Given the description of an element on the screen output the (x, y) to click on. 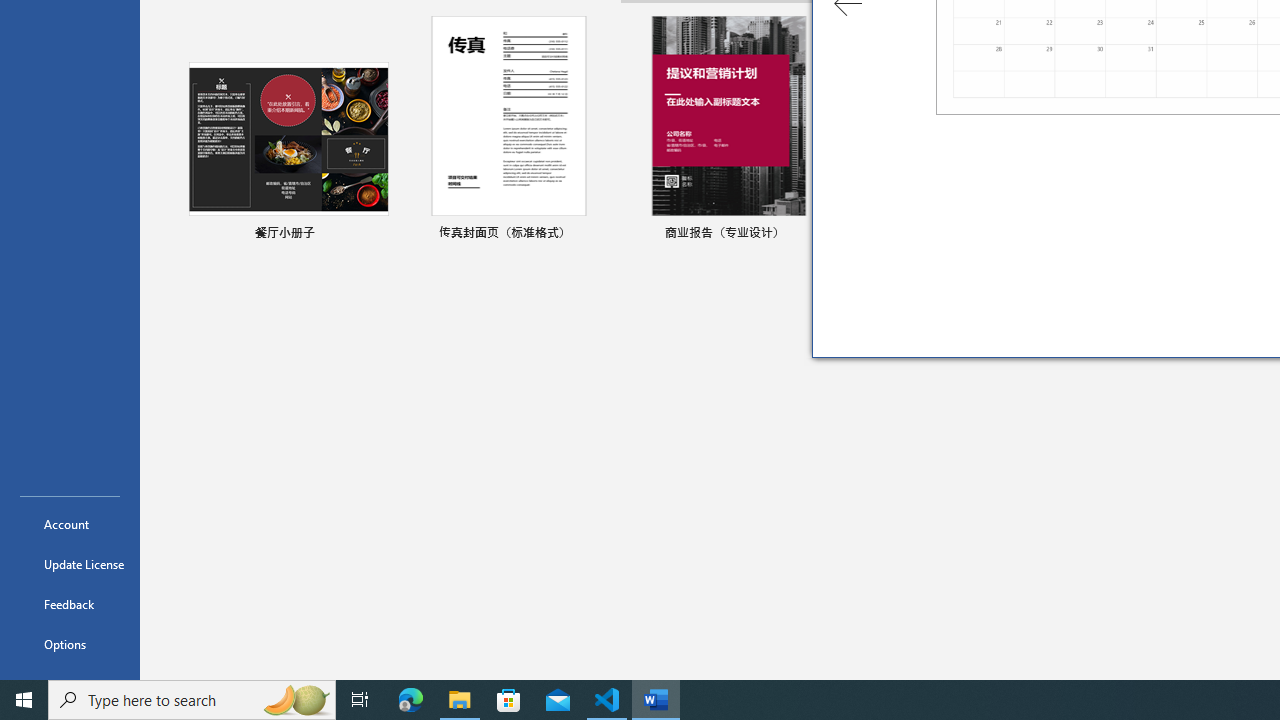
Search highlights icon opens search home window (295, 699)
Update License (69, 563)
